Given the description of an element on the screen output the (x, y) to click on. 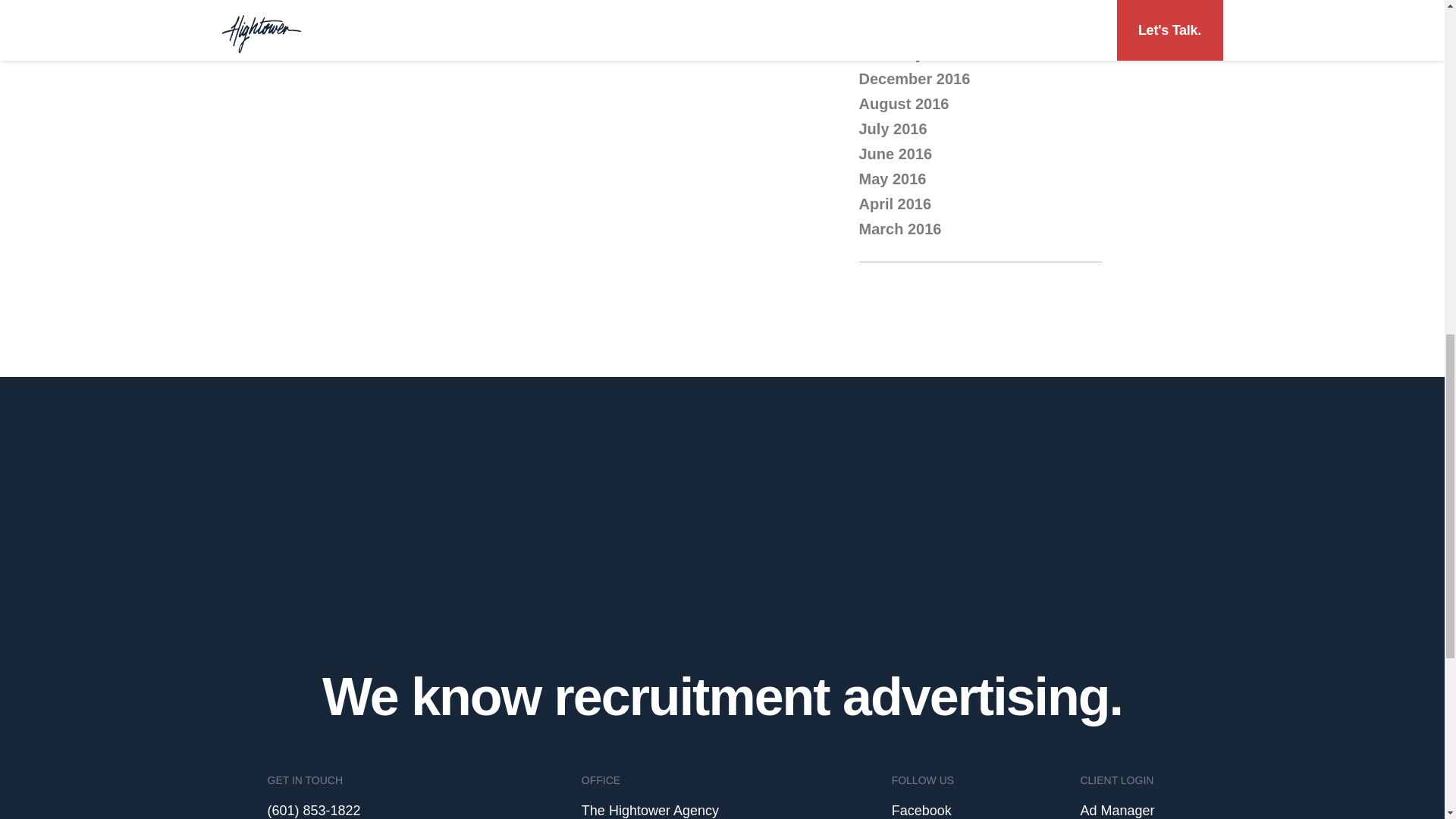
April 2016 (895, 203)
December 2016 (914, 78)
May 2016 (892, 178)
March 2016 (899, 228)
June 2016 (895, 153)
April 2018 (895, 6)
February 2017 (909, 53)
Facebook (921, 810)
July 2016 (892, 128)
August 2016 (904, 103)
March 2017 (899, 28)
